Given the description of an element on the screen output the (x, y) to click on. 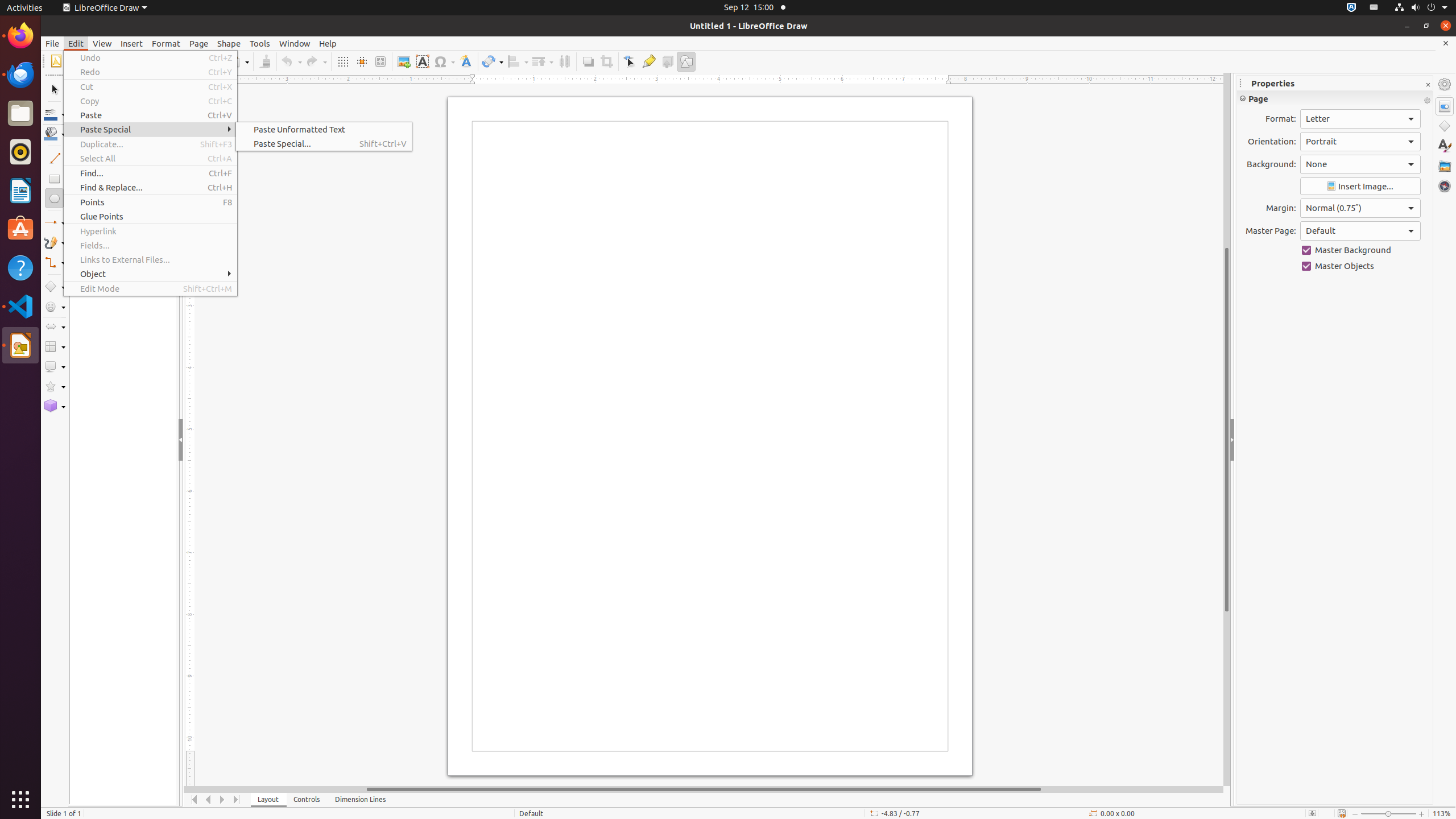
Tools Element type: menu (259, 43)
Edit Element type: menu (75, 43)
Visual Studio Code Element type: push-button (20, 306)
Edit Points Element type: push-button (629, 61)
Links to External Files... Element type: menu-item (150, 259)
